Given the description of an element on the screen output the (x, y) to click on. 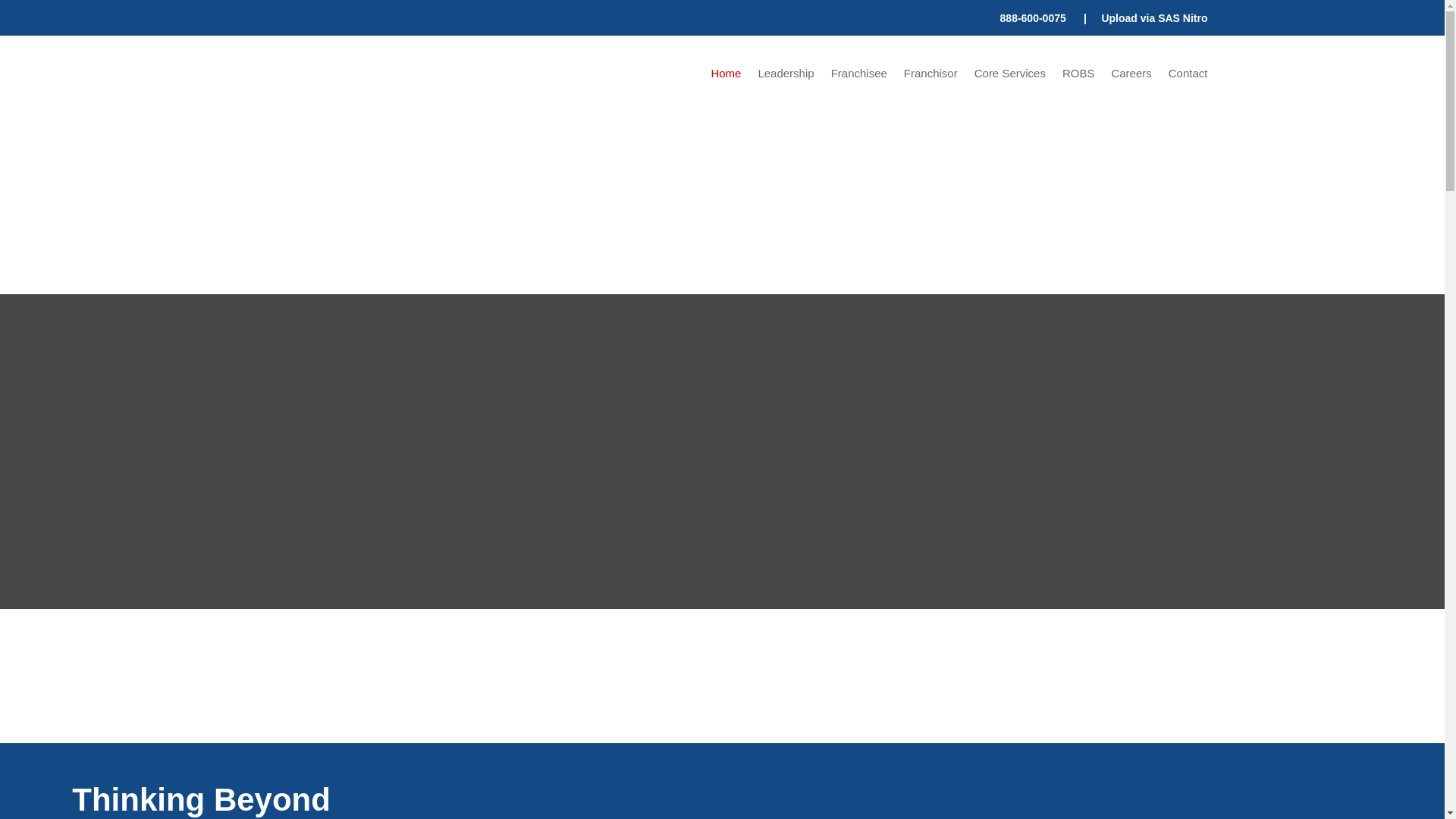
ROBS (1078, 76)
888-600-0075 (1032, 18)
Franchisor (931, 76)
Home (725, 76)
Contact (1188, 76)
Leadership (785, 76)
Upload via SAS Nitro (1153, 18)
Core Services (1009, 76)
Franchisee (858, 76)
Careers (1130, 76)
